Given the description of an element on the screen output the (x, y) to click on. 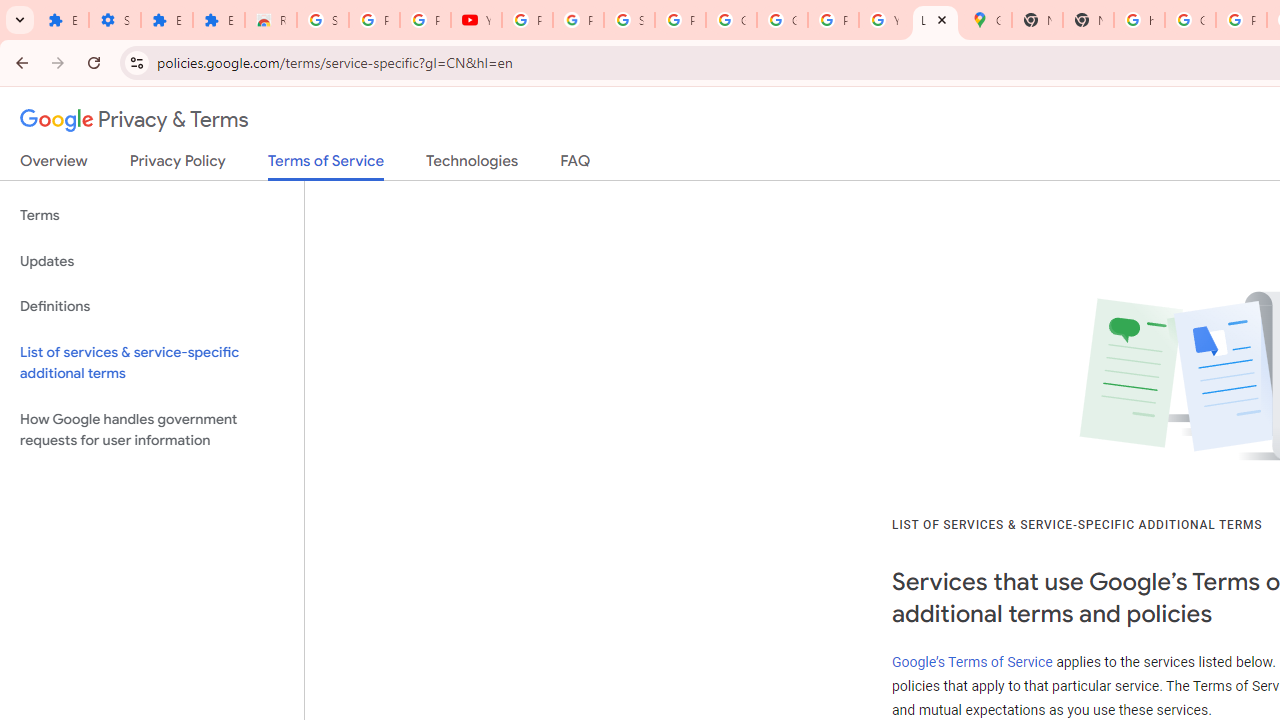
Reviews: Helix Fruit Jump Arcade Game (270, 20)
How Google handles government requests for user information (152, 429)
Google Maps (986, 20)
New Tab (1037, 20)
YouTube (475, 20)
New Tab (1087, 20)
Extensions (63, 20)
